Given the description of an element on the screen output the (x, y) to click on. 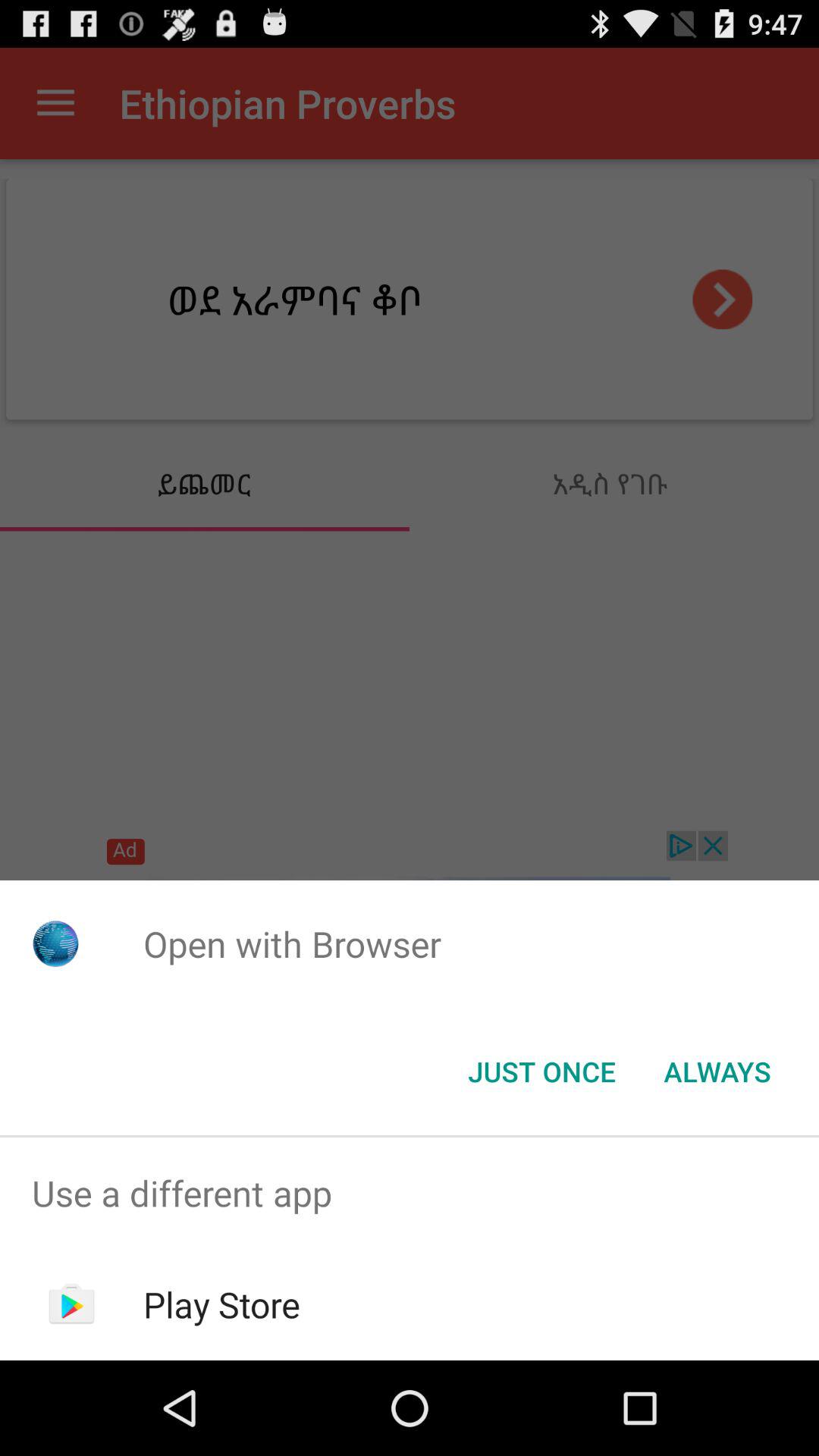
click icon below the open with browser app (541, 1071)
